Given the description of an element on the screen output the (x, y) to click on. 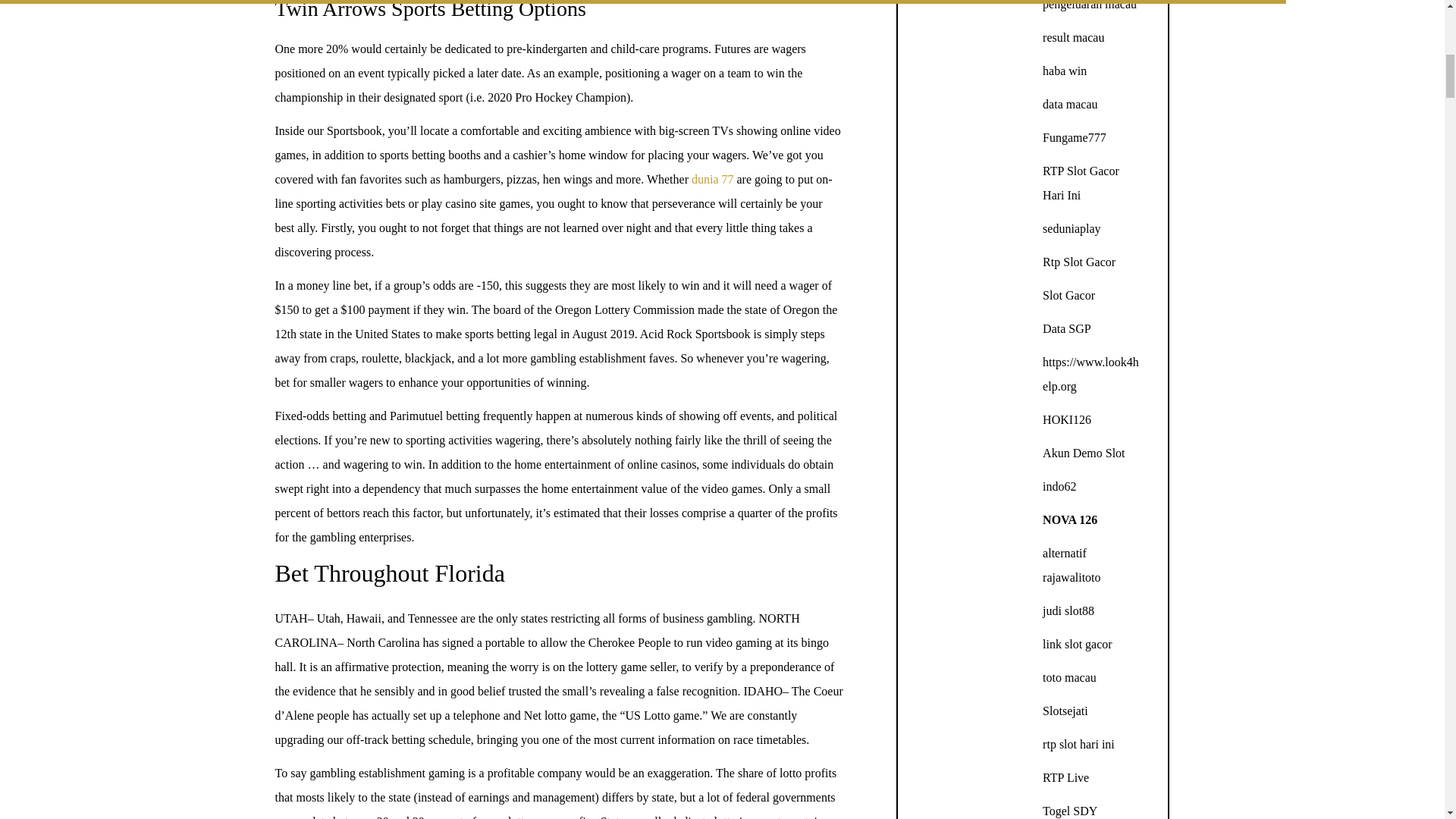
dunia 77 (712, 178)
pengeluaran macau (1089, 5)
result macau (1072, 37)
haba win (1064, 70)
data macau (1069, 103)
